Given the description of an element on the screen output the (x, y) to click on. 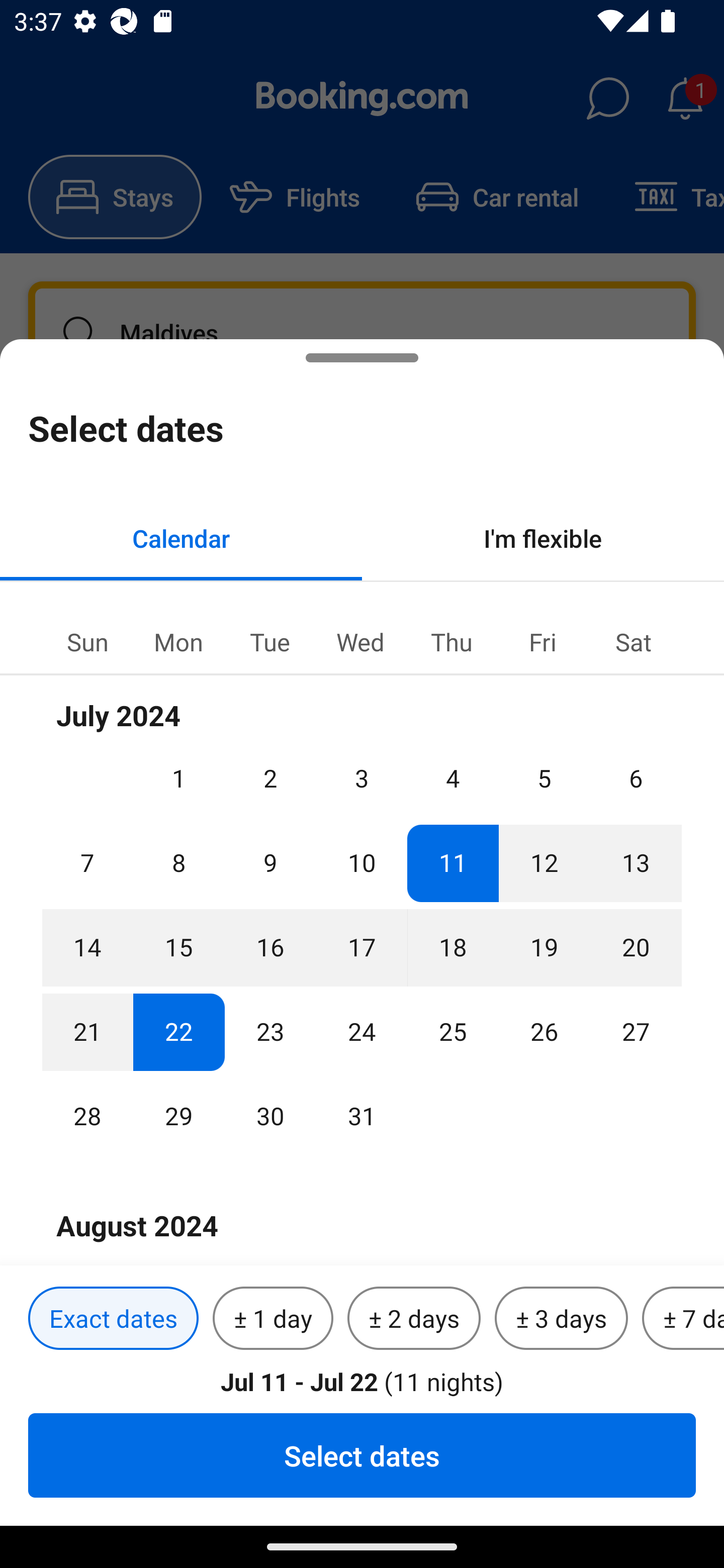
I'm flexible (543, 537)
Exact dates (113, 1318)
± 1 day (272, 1318)
± 2 days (413, 1318)
± 3 days (560, 1318)
± 7 days (683, 1318)
Select dates (361, 1454)
